Given the description of an element on the screen output the (x, y) to click on. 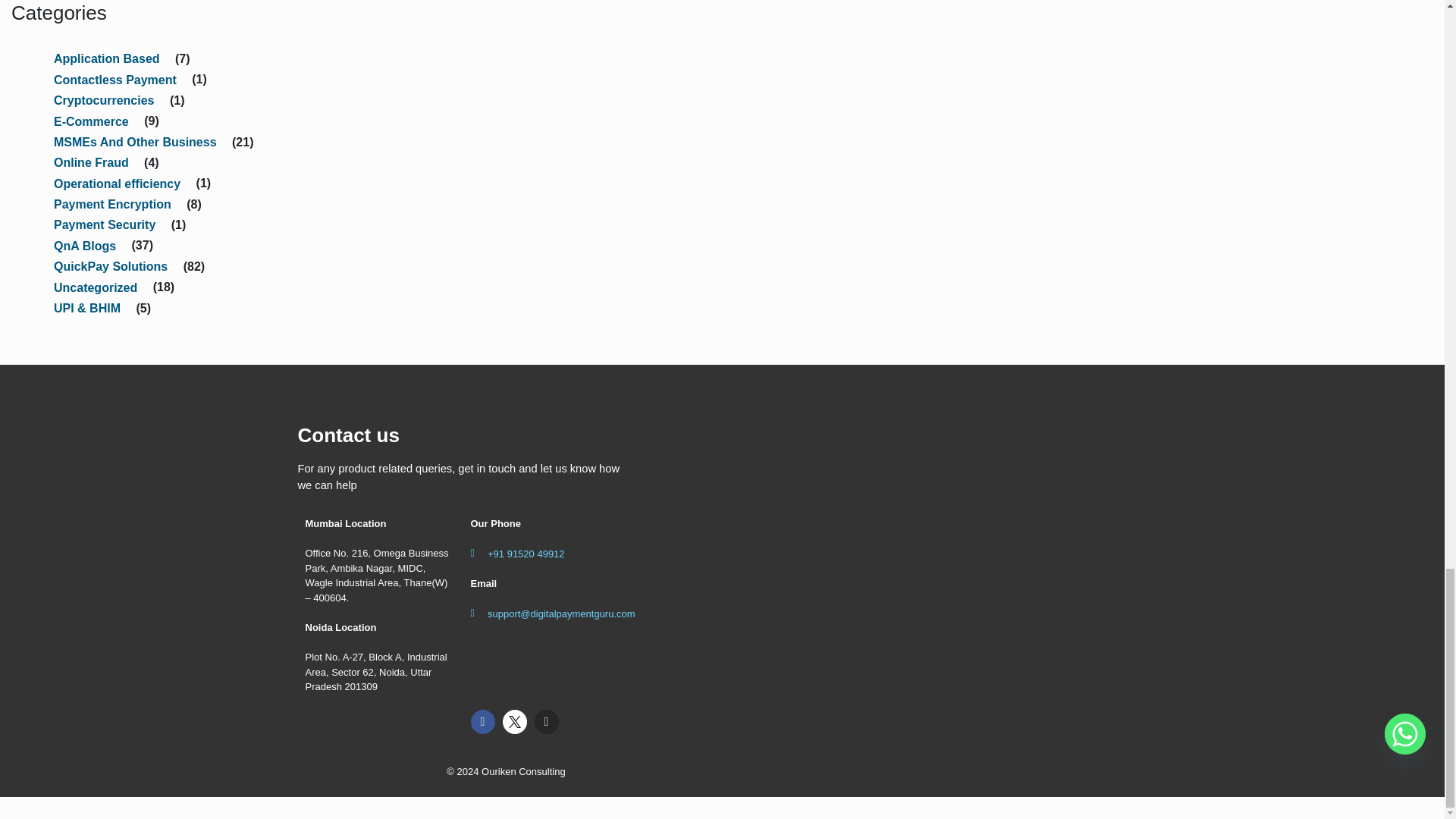
Application Based (106, 56)
Cryptocurrencies (104, 98)
Operational efficiency (117, 181)
MSMEs And Other Business (135, 140)
Payment Encryption (112, 202)
Online Fraud (91, 160)
E-Commerce (91, 118)
Payment Security (104, 222)
Contactless Payment (115, 77)
